Given the description of an element on the screen output the (x, y) to click on. 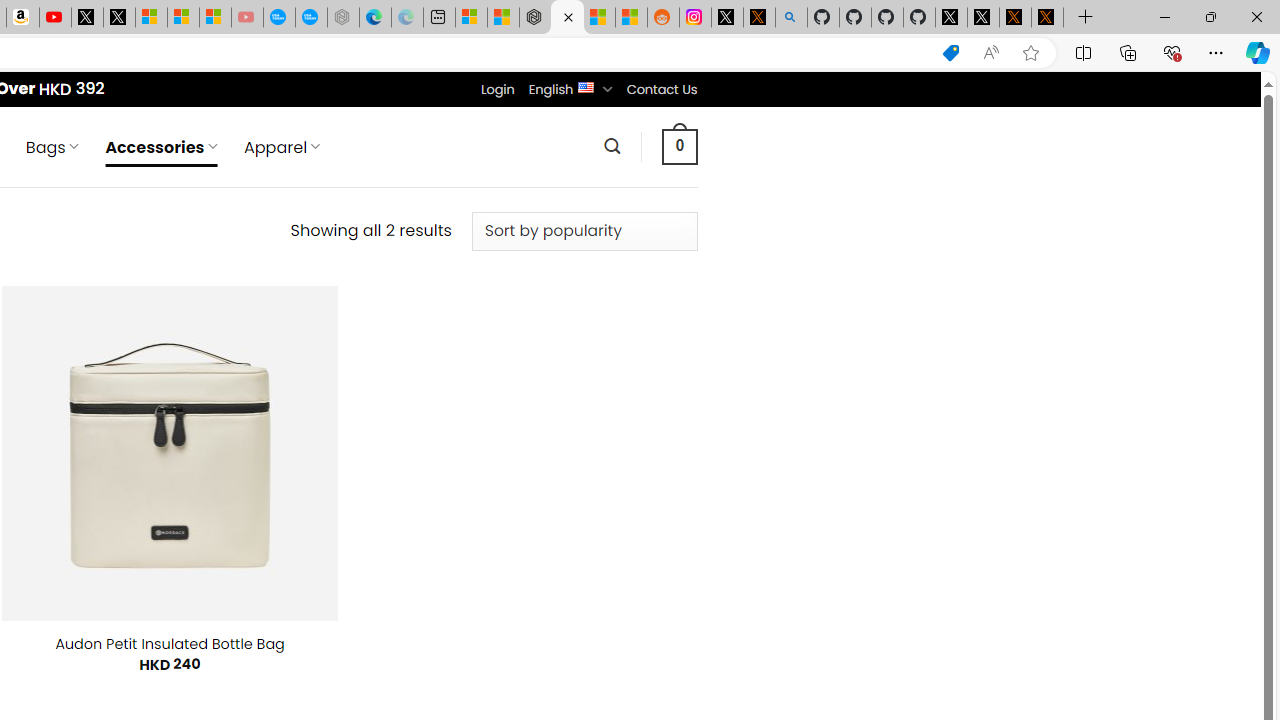
github - Search (791, 17)
Nordace - Baby Gear (566, 17)
The most popular Google 'how to' searches (310, 17)
X Privacy Policy (1047, 17)
Nordace - Best Sellers (535, 17)
help.x.com | 524: A timeout occurred (758, 17)
